Given the description of an element on the screen output the (x, y) to click on. 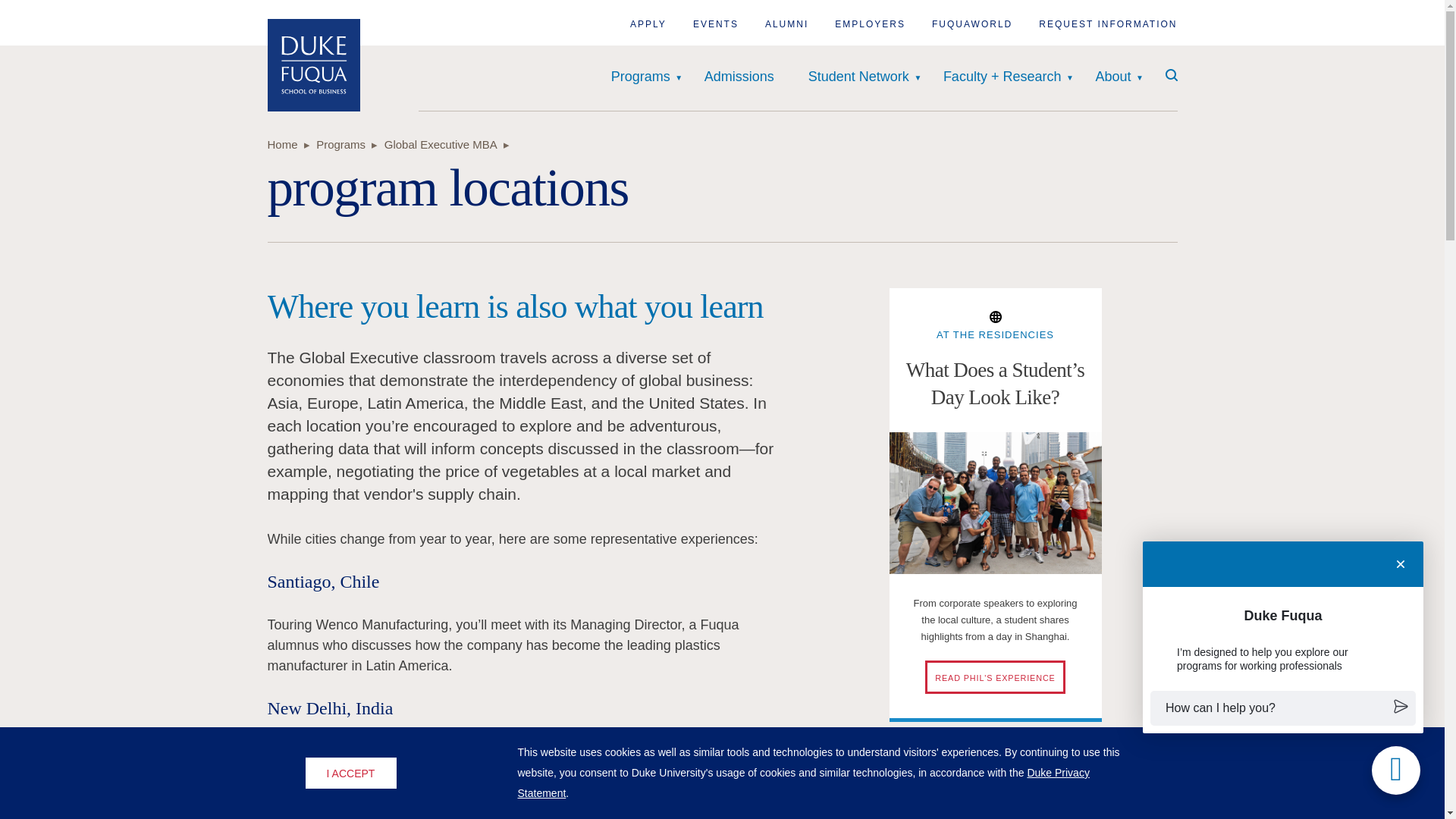
Programs (640, 76)
Student Network (858, 76)
Admissions (739, 76)
EMBA students in Shanghai (994, 503)
Home (312, 64)
